Given the description of an element on the screen output the (x, y) to click on. 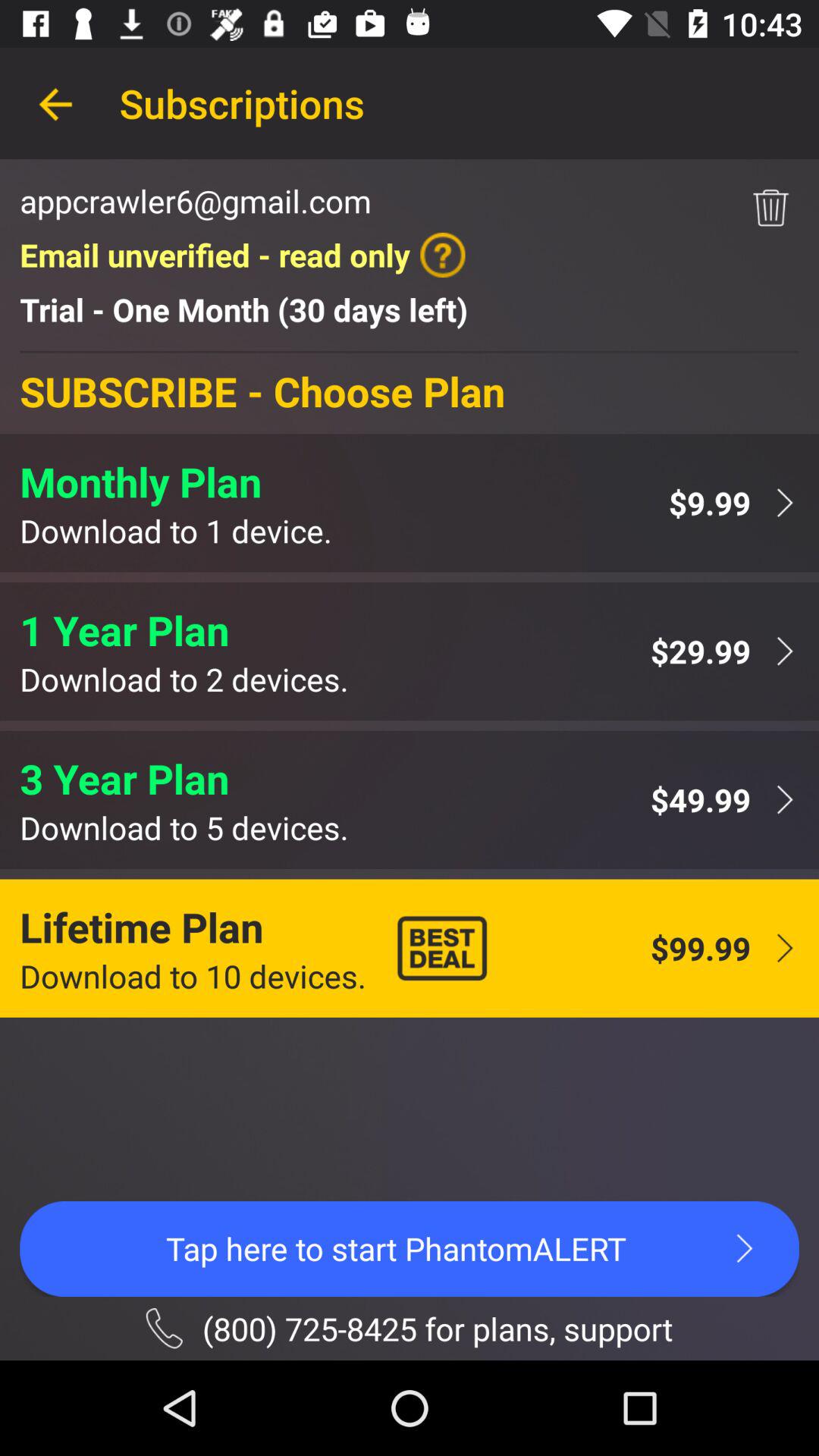
open the icon next to subscriptions item (55, 103)
